Given the description of an element on the screen output the (x, y) to click on. 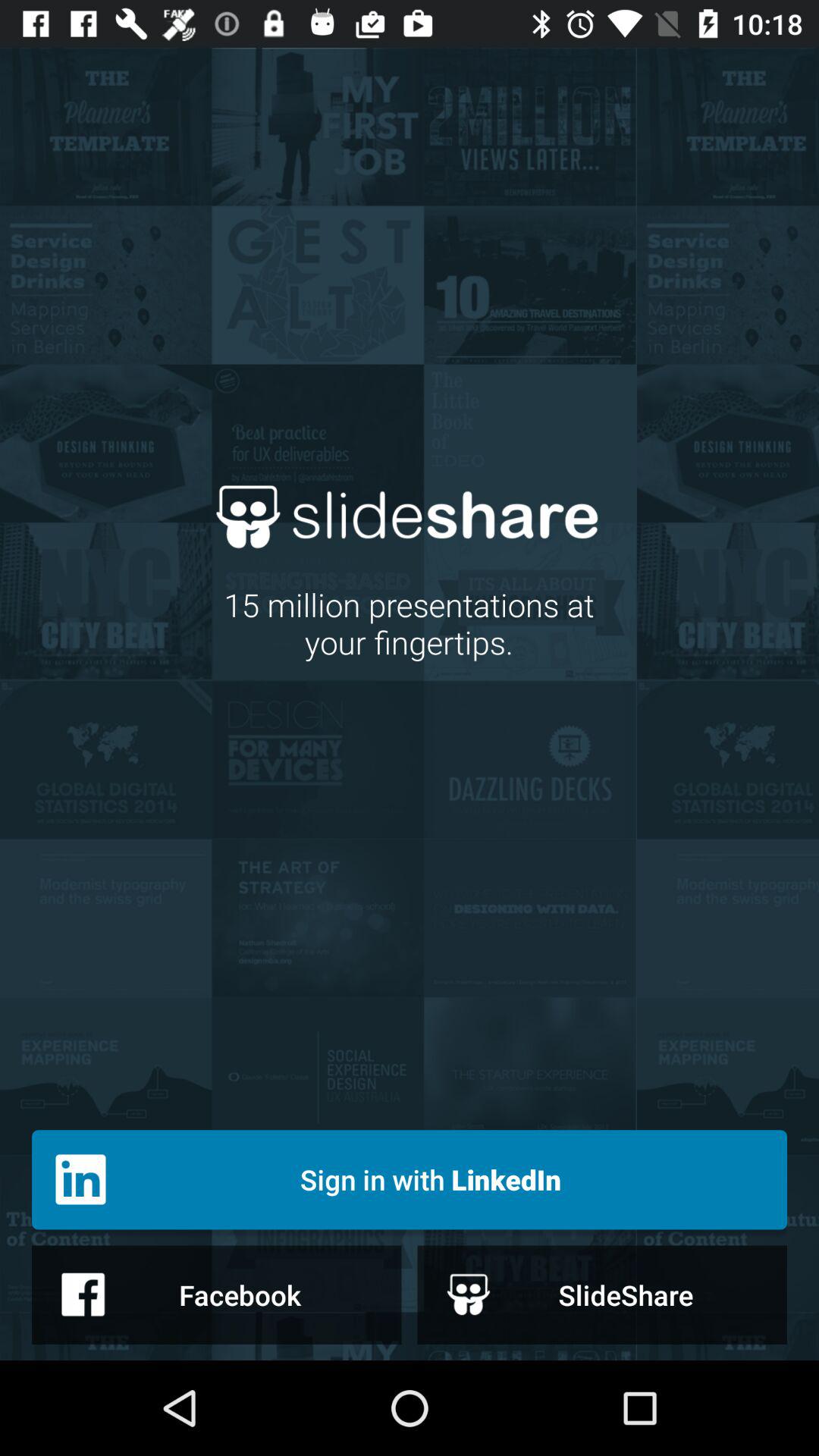
select sign in with item (409, 1179)
